Given the description of an element on the screen output the (x, y) to click on. 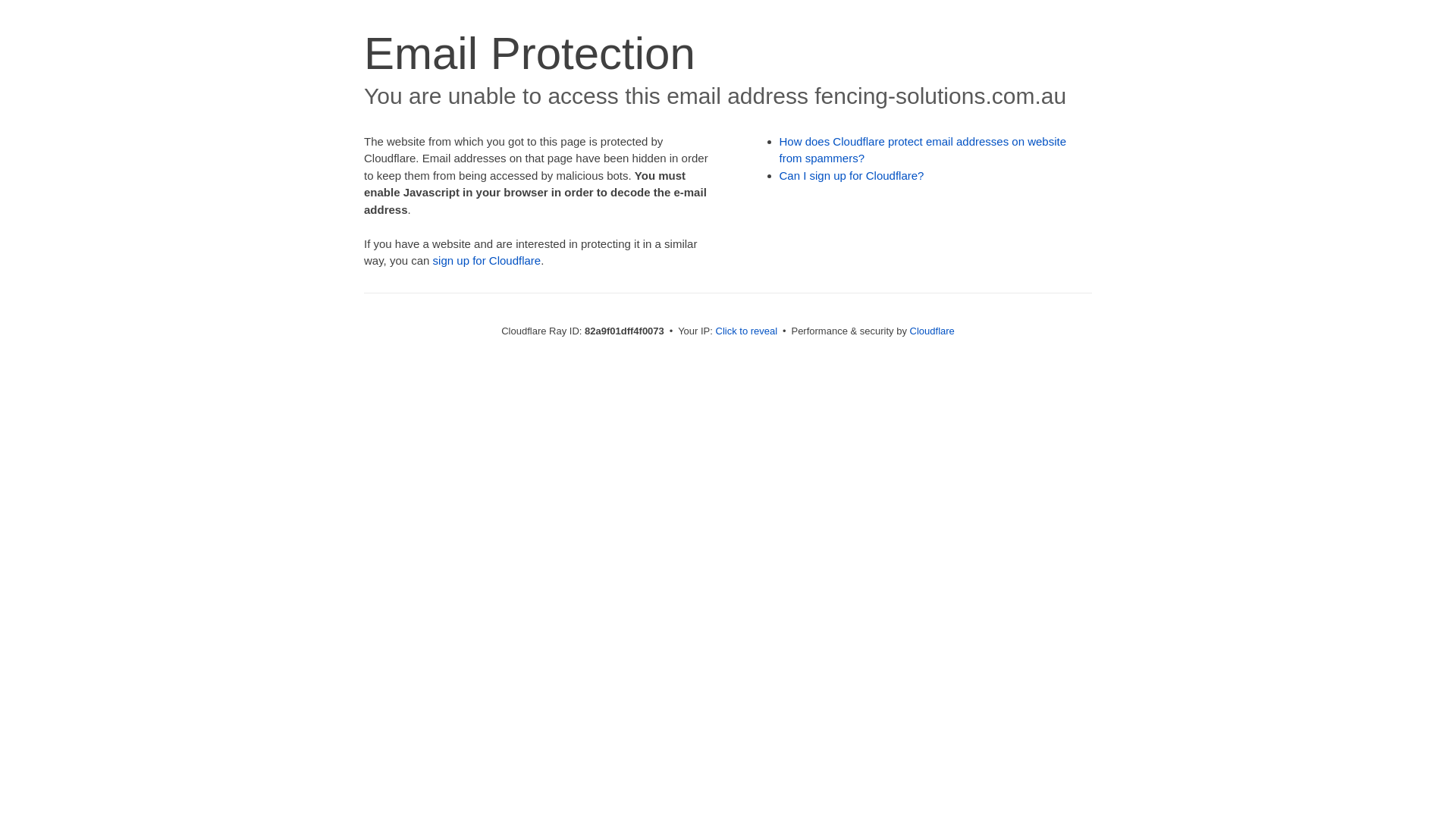
Can I sign up for Cloudflare? Element type: text (851, 175)
Cloudflare Element type: text (932, 330)
Click to reveal Element type: text (746, 330)
sign up for Cloudflare Element type: text (487, 260)
